Given the description of an element on the screen output the (x, y) to click on. 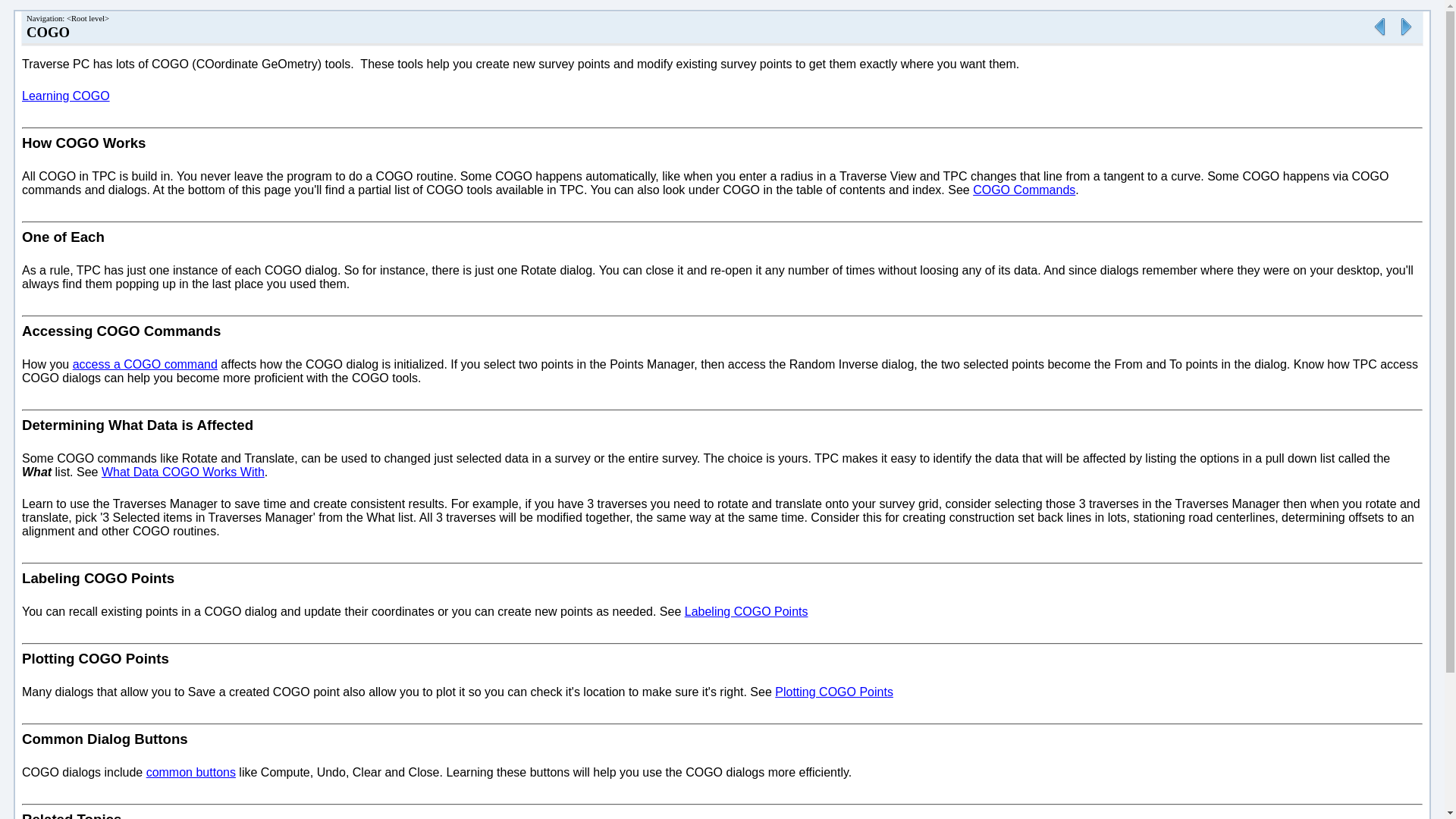
Learning COGO (1405, 35)
Labeling COGO Points (746, 611)
access a COGO command (144, 364)
common buttons (191, 771)
What Data COGO Works With (182, 472)
Set the Point Symbol and Size of the survey points (1379, 35)
Learning COGO (65, 95)
Plotting COGO Points (833, 691)
COGO Commands (1023, 189)
